Given the description of an element on the screen output the (x, y) to click on. 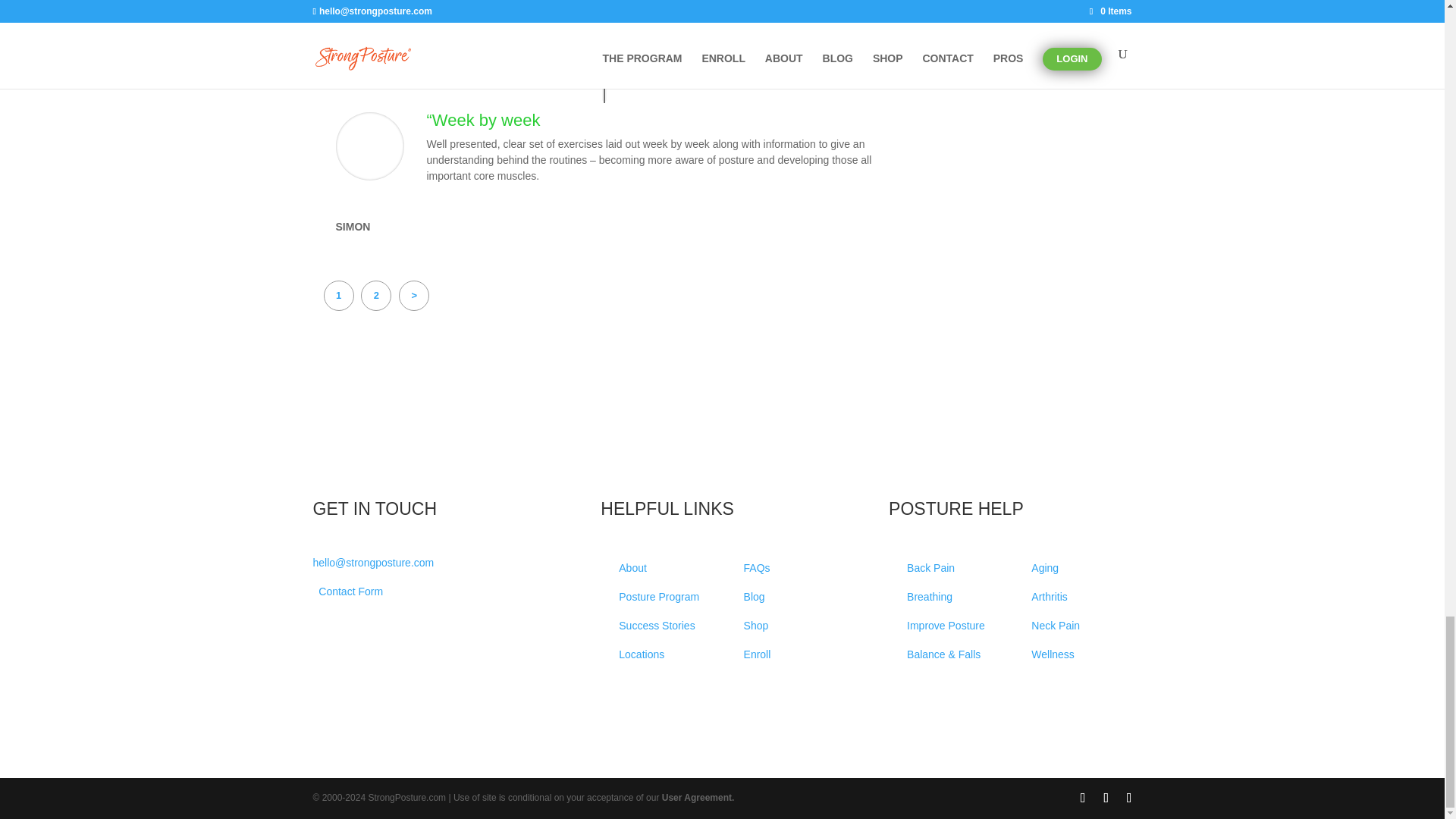
1 (338, 295)
2 (376, 295)
Locations (640, 654)
About (632, 567)
Contact Form (350, 591)
Posture Program (658, 596)
FAQs (757, 567)
Blog (754, 596)
Success Stories (656, 625)
